Given the description of an element on the screen output the (x, y) to click on. 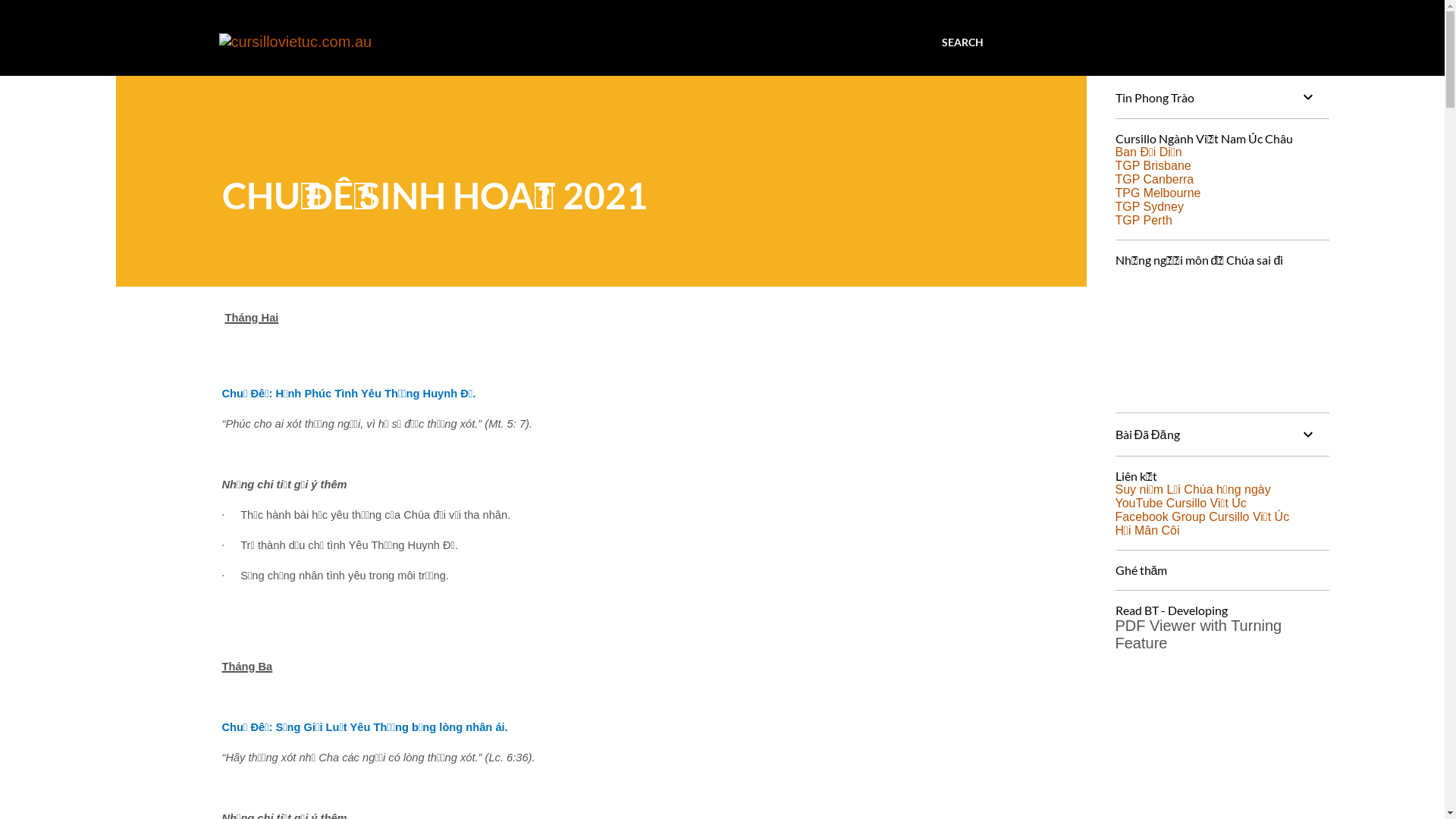
TGP Canberra Element type: text (1153, 178)
SEARCH Element type: text (962, 42)
TGP Brisbane Element type: text (1152, 165)
TGP Sydney Element type: text (1148, 206)
YouTube video player Element type: hover (1220, 331)
TPG Melbourne Element type: text (1157, 192)
TGP Perth Element type: text (1142, 219)
